Given the description of an element on the screen output the (x, y) to click on. 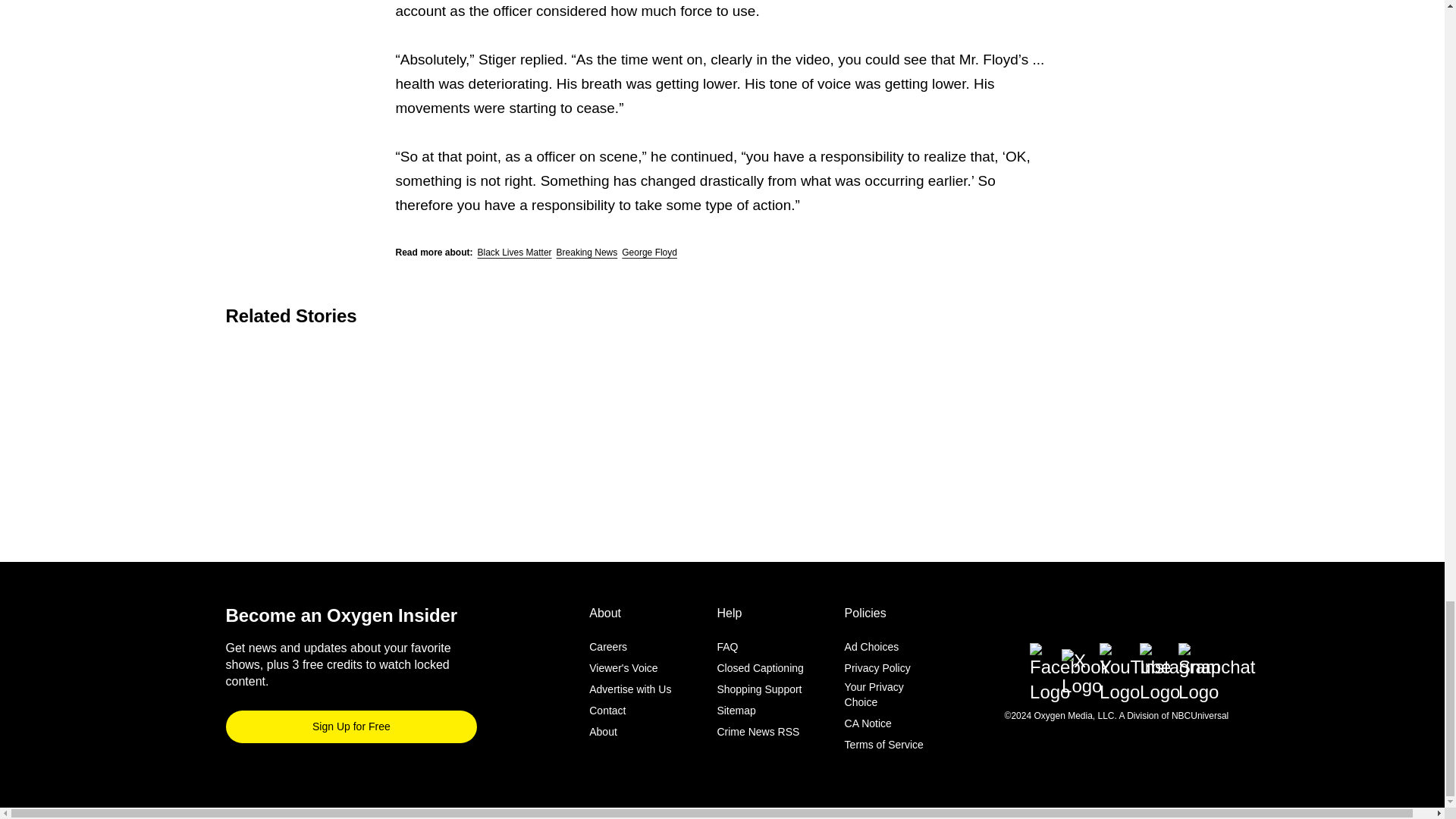
Black Lives Matter (514, 252)
Breaking News (586, 252)
Advertise with Us (630, 689)
George Floyd (649, 252)
